Given the description of an element on the screen output the (x, y) to click on. 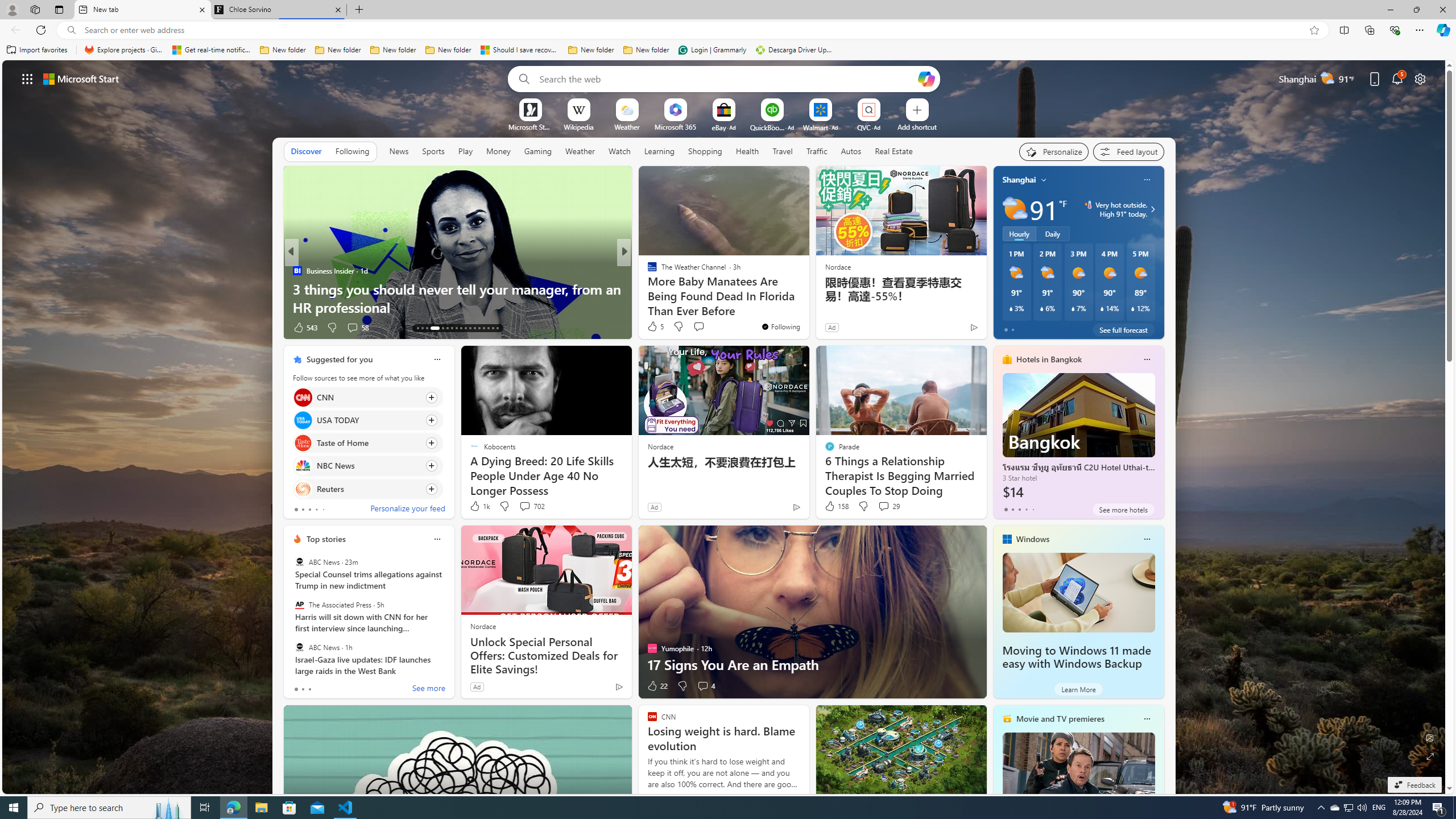
AutomationID: tab-21 (460, 328)
13 Things You Should Never Tolerate in Your Life (807, 307)
Forge of Empires (668, 288)
Health (746, 151)
AutomationID: tab-13 (417, 328)
Click to follow source NBC News (367, 465)
View comments 247 Comment (709, 327)
Top 10 Worst Things To Do When Camping (807, 307)
tab-4 (1032, 509)
Class: weather-current-precipitation-glyph (1133, 308)
View comments 29 Comment (883, 505)
Should I save recovered Word documents? - Microsoft Support (519, 49)
View comments 6 Comment (703, 327)
